Given the description of an element on the screen output the (x, y) to click on. 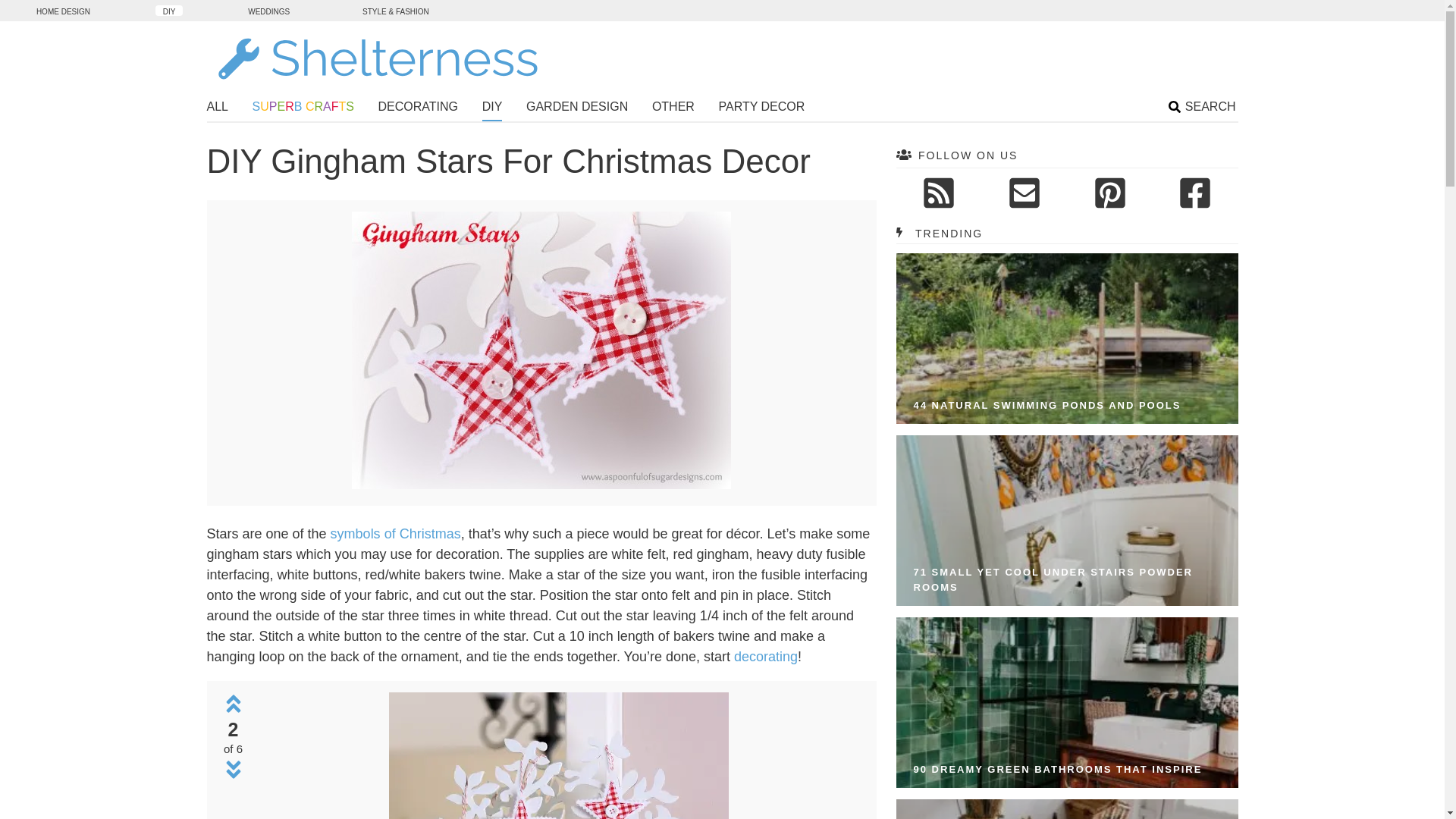
HOME DESIGN (63, 9)
SEARCH (1202, 108)
Here are our best crafts for kids and adults. (302, 108)
DigsDigs (63, 9)
decorating (765, 656)
Diy Gingham Stars For Christmas Decor (558, 755)
PARTY DECOR (762, 108)
WEDDINGS (268, 9)
symbols of Christmas (395, 533)
DECORATING (418, 108)
Diy Gingham Stars For Christmas Decor (541, 349)
SUPERB CRAFTS (302, 108)
OTHER (673, 108)
Wedding Ideas and Inspirations (268, 9)
